Given the description of an element on the screen output the (x, y) to click on. 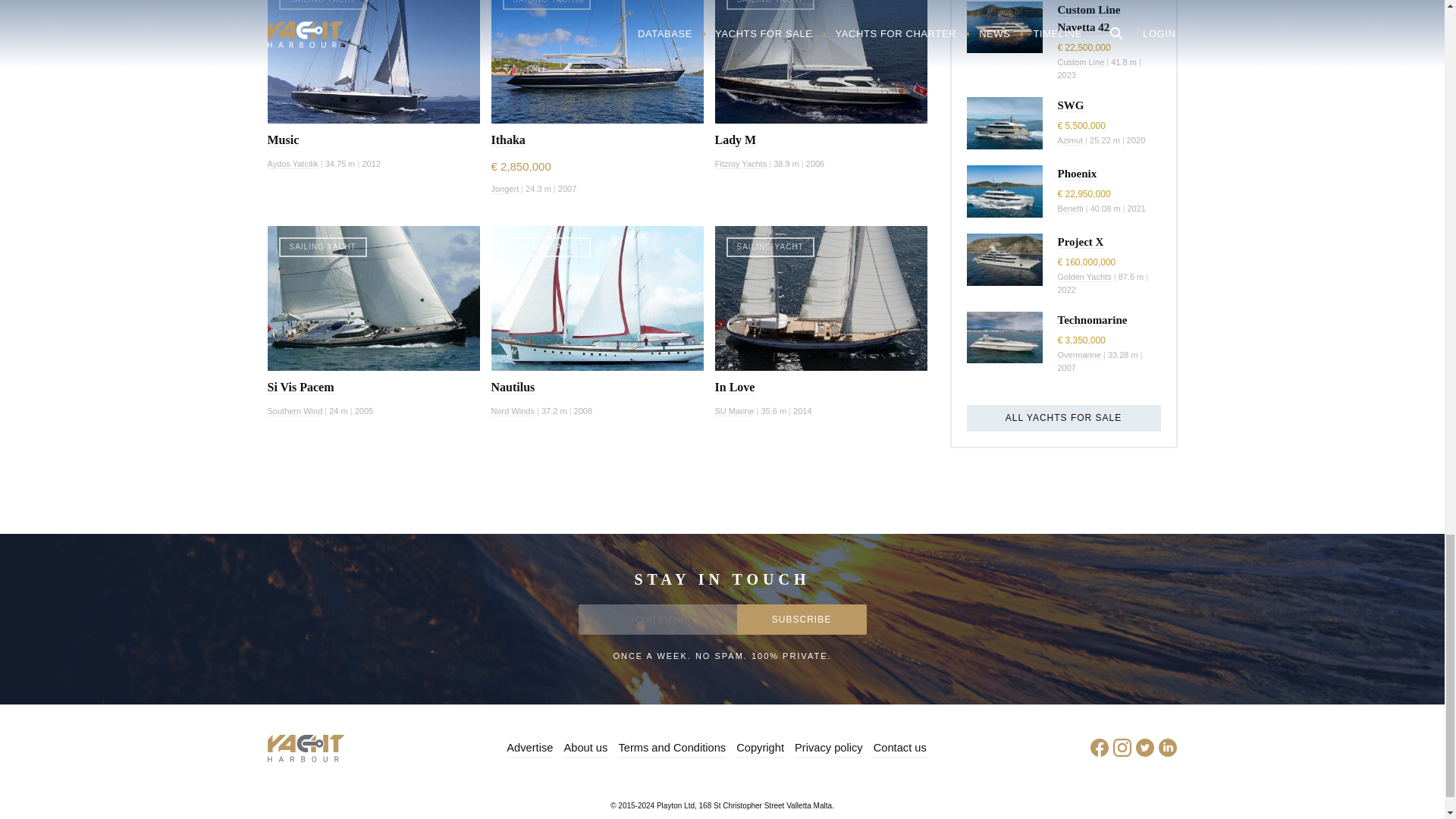
Southern Wind (293, 411)
Lady M (734, 140)
Subscribe (801, 619)
Ithaka (508, 140)
Fitzroy Yachts (740, 163)
Si Vis Pacem (299, 386)
Music (282, 140)
Jongert (505, 189)
Aydos Yatcilik (291, 163)
